Given the description of an element on the screen output the (x, y) to click on. 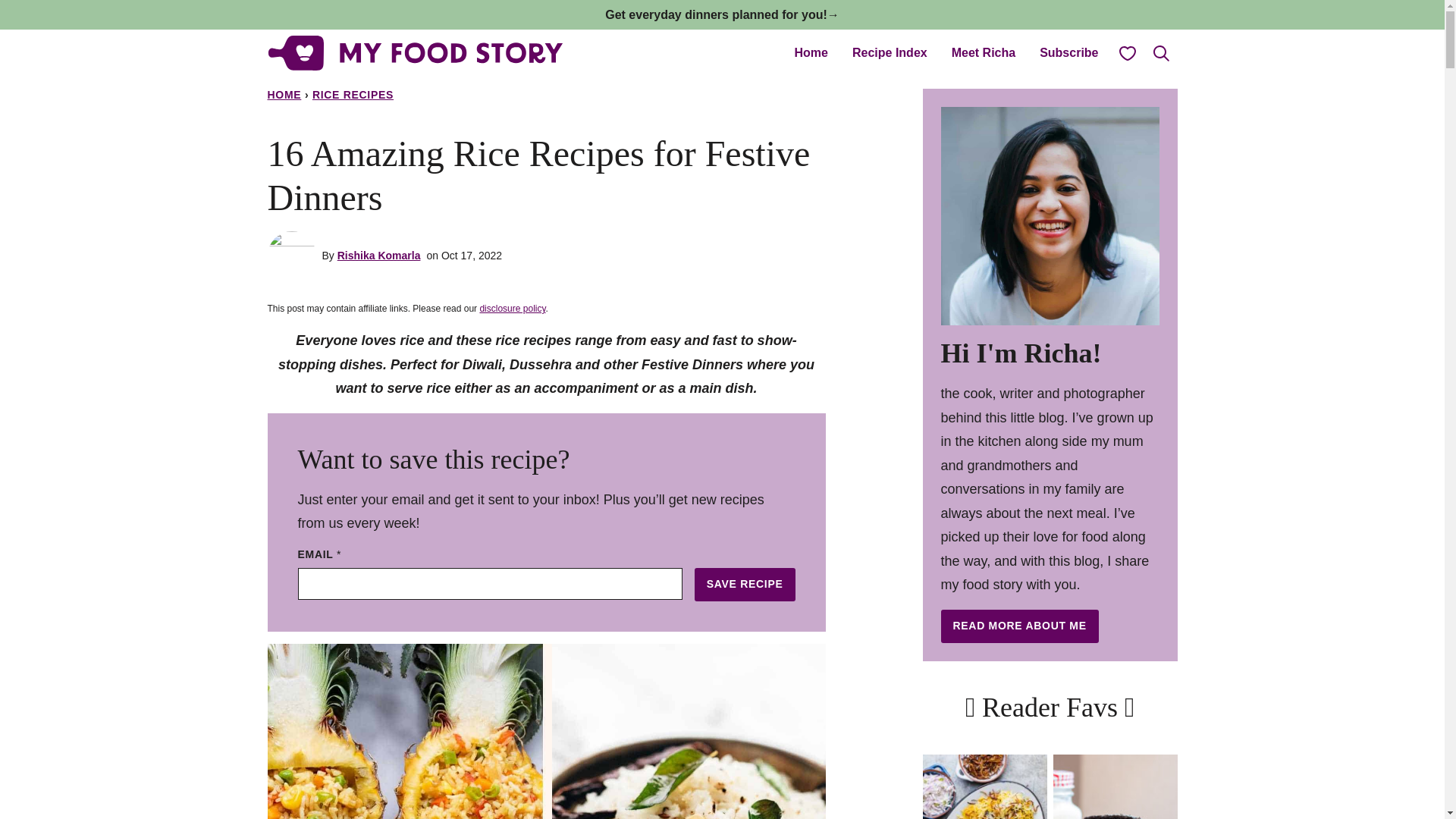
My Favorites (1125, 52)
HOME (283, 94)
Rishika Komarla (378, 255)
Subscribe (1068, 52)
Recipe Index (889, 52)
SAVE RECIPE (744, 584)
Home (811, 52)
RICE RECIPES (353, 94)
disclosure policy (511, 308)
Meet Richa (983, 52)
